Given the description of an element on the screen output the (x, y) to click on. 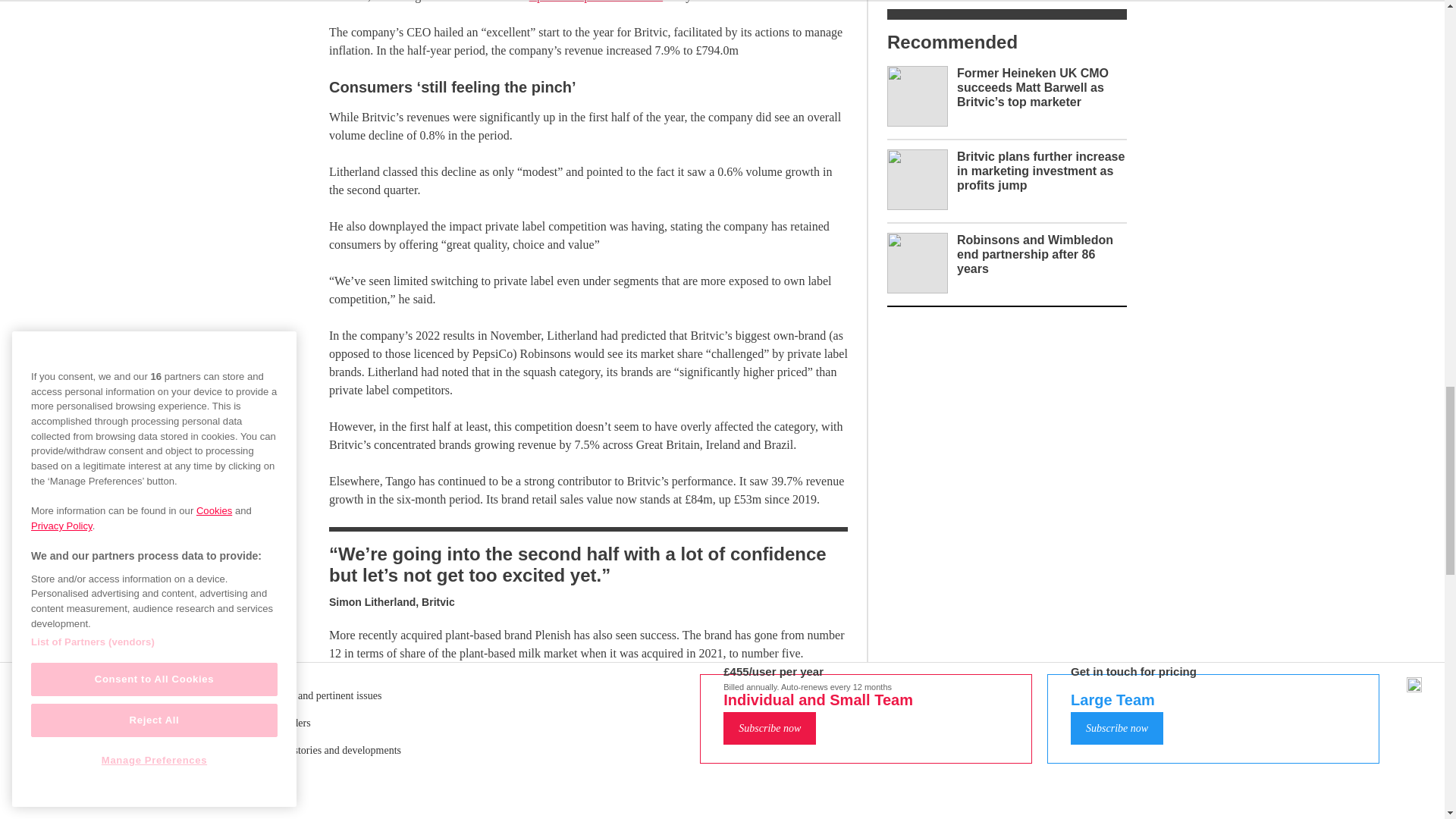
sponsorship of Wimbledon (595, 1)
